Given the description of an element on the screen output the (x, y) to click on. 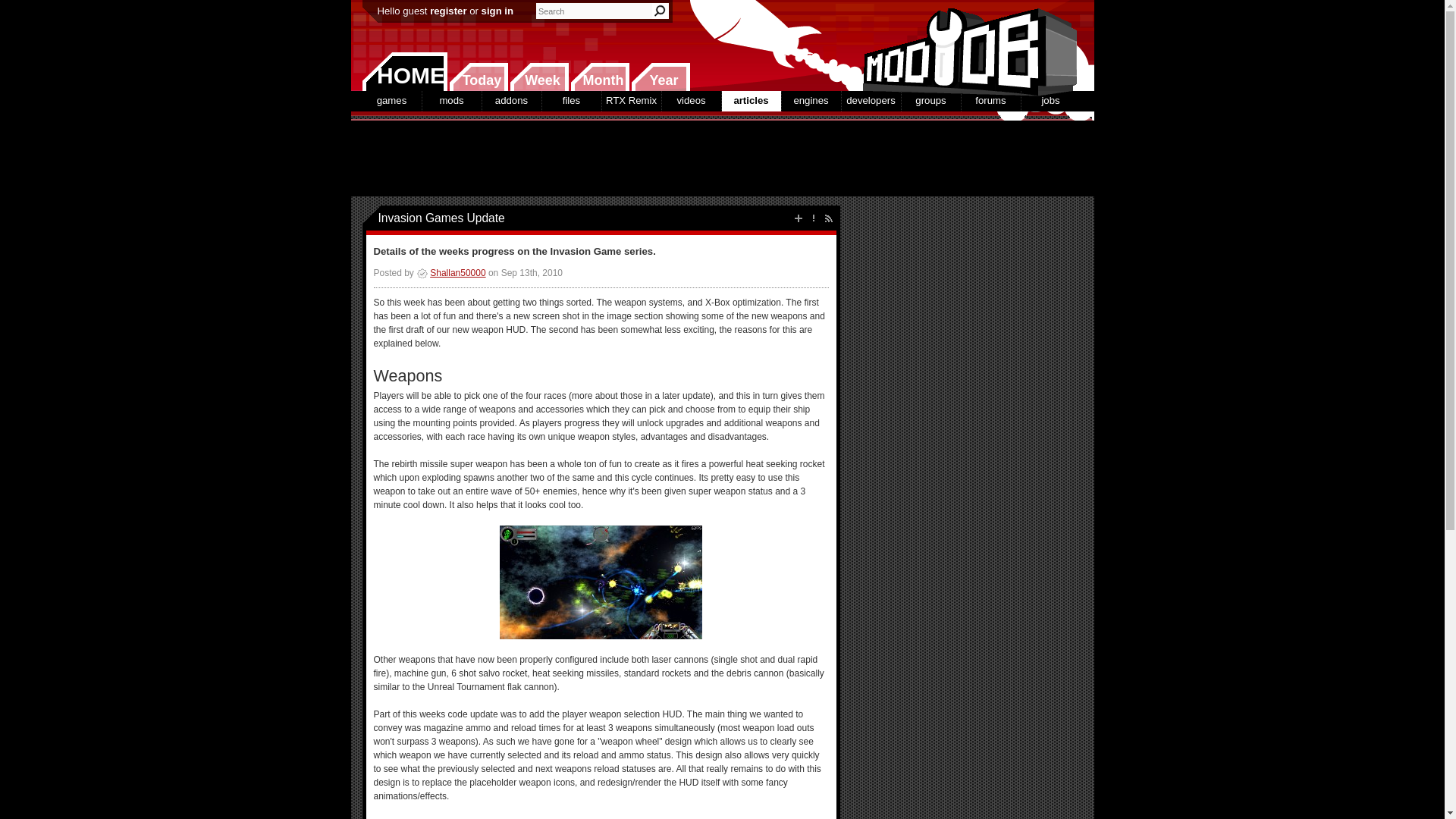
New this week (539, 76)
files (570, 100)
Search ModDB (660, 10)
videos (690, 100)
RSS (828, 218)
New today (478, 76)
mods (451, 100)
3rd party ad content (721, 158)
Week (539, 76)
games (392, 100)
